Given the description of an element on the screen output the (x, y) to click on. 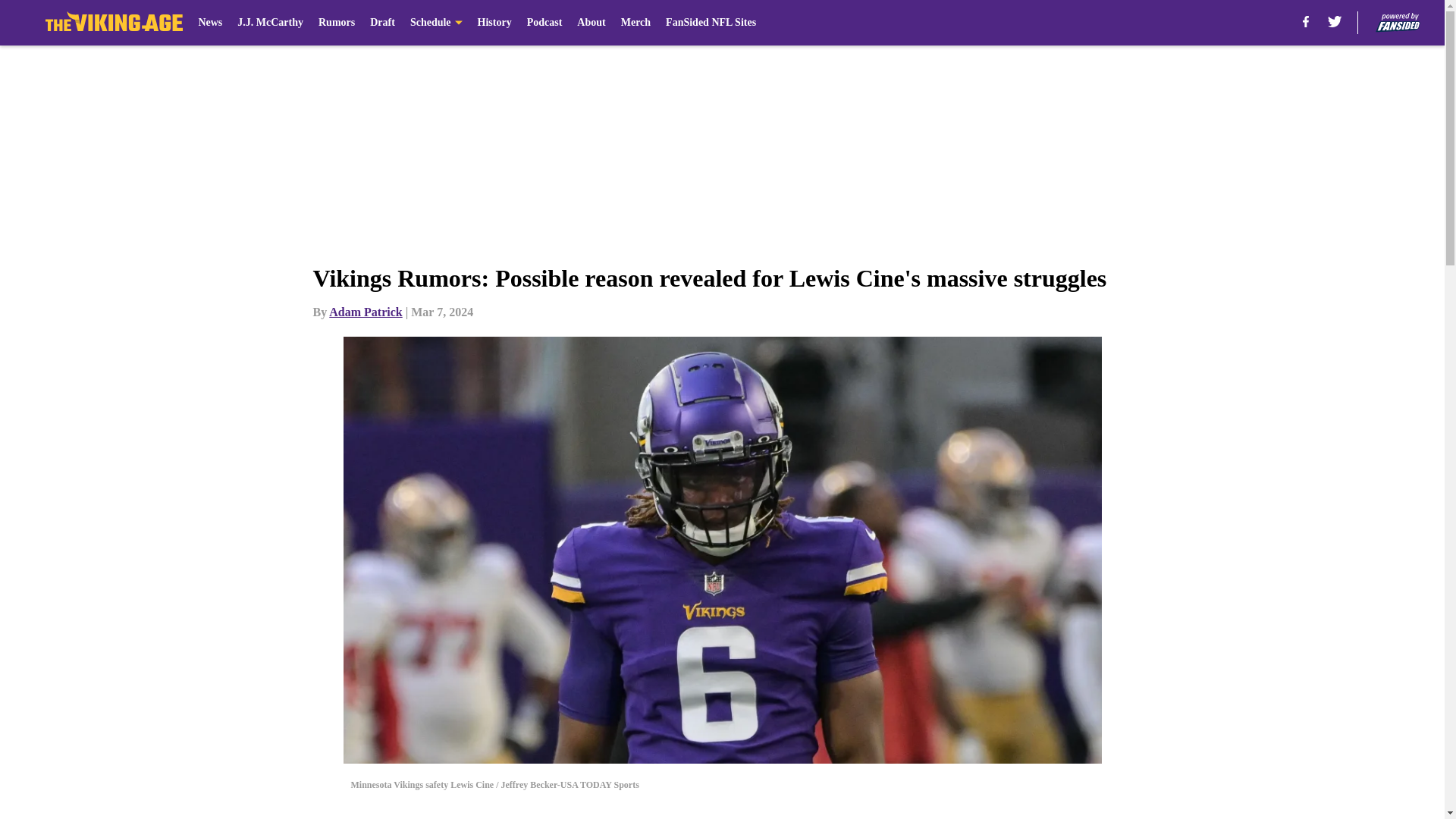
Rumors (336, 22)
Podcast (544, 22)
History (494, 22)
Adam Patrick (365, 311)
About (590, 22)
News (210, 22)
Draft (381, 22)
Merch (635, 22)
FanSided NFL Sites (710, 22)
J.J. McCarthy (269, 22)
